Given the description of an element on the screen output the (x, y) to click on. 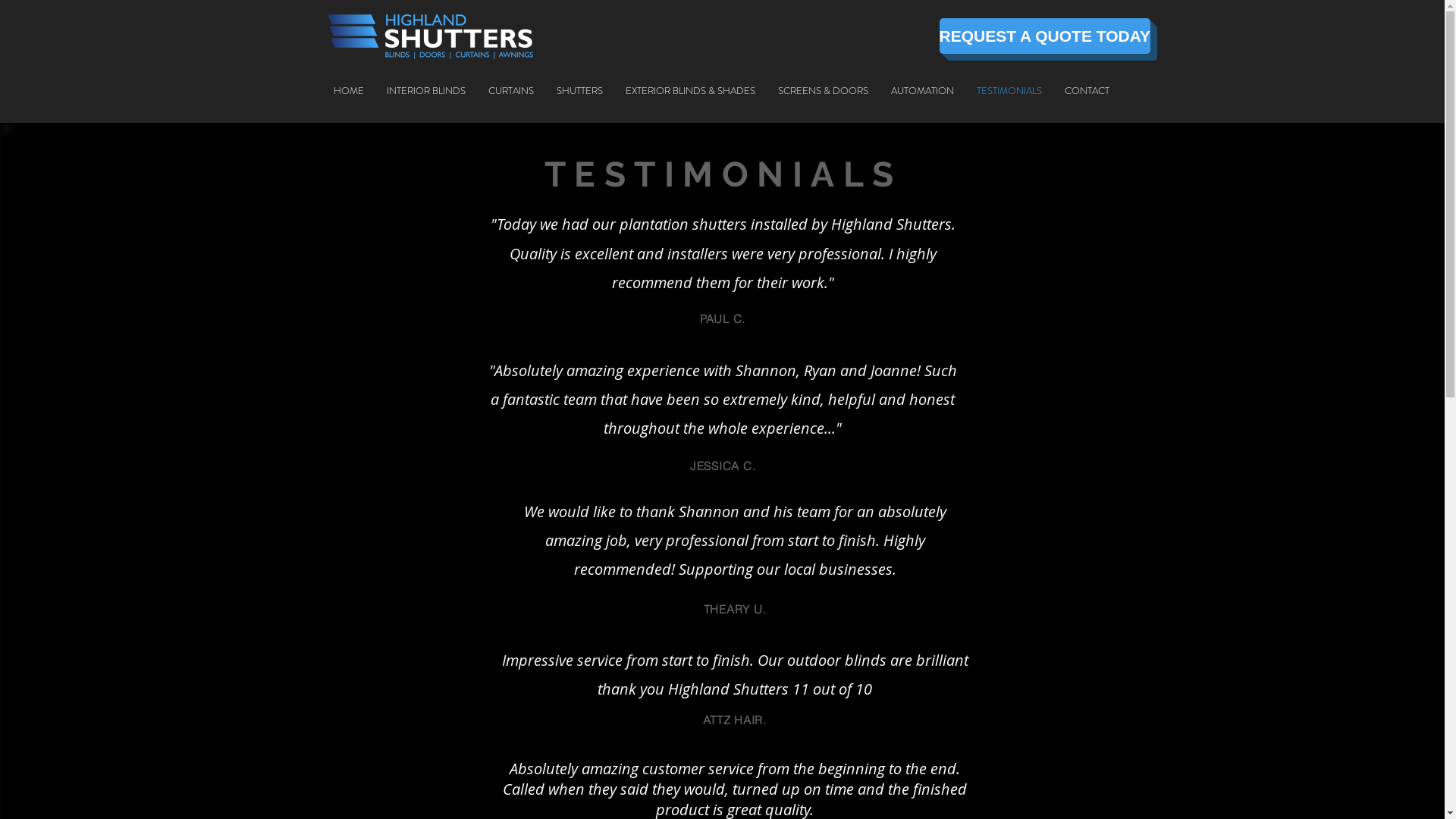
HOME Element type: text (348, 90)
CONTACT Element type: text (1086, 90)
REQUEST A QUOTE TODAY Element type: text (1044, 35)
TESTIMONIALS Element type: text (1009, 90)
